Given the description of an element on the screen output the (x, y) to click on. 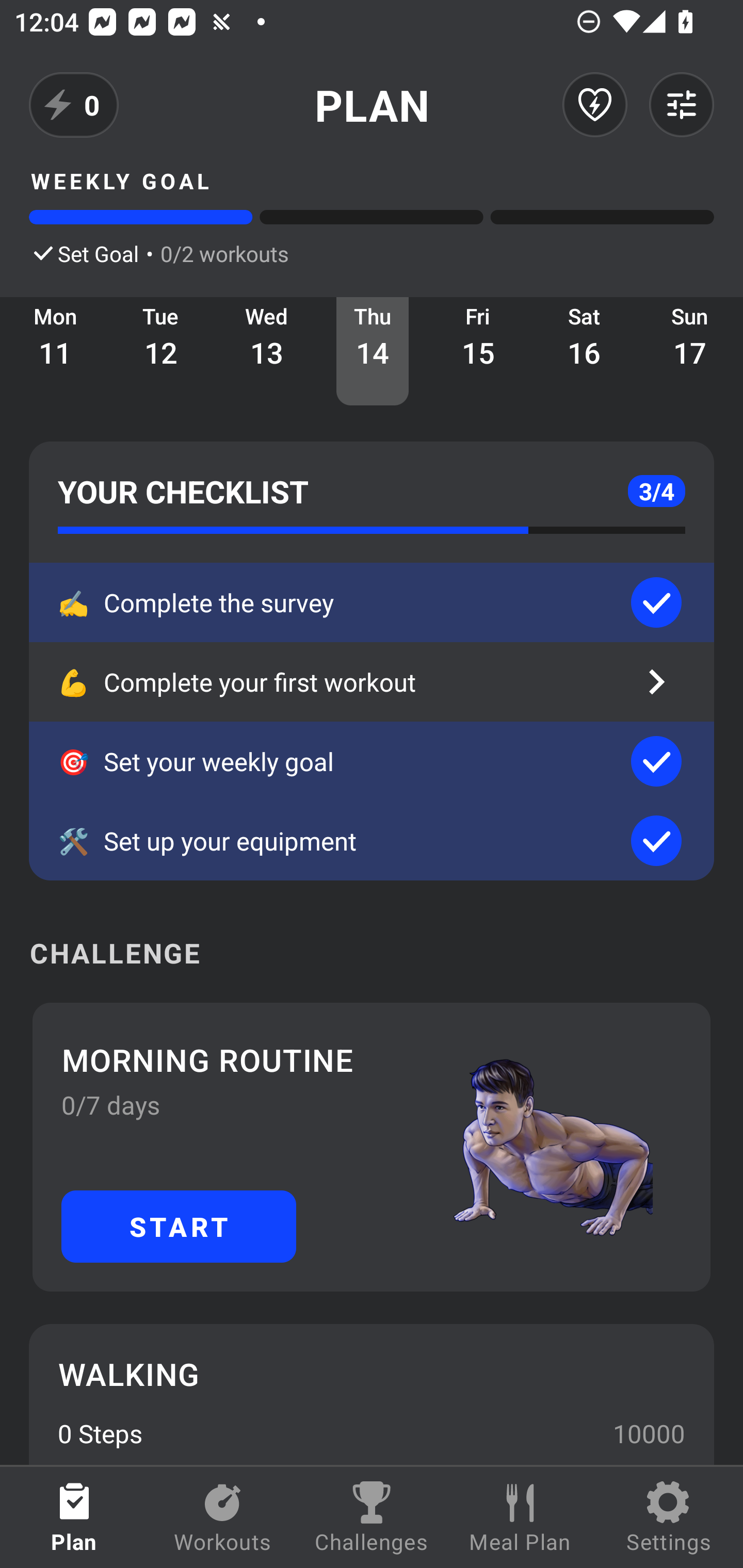
0 (73, 104)
Mon 11 (55, 351)
Tue 12 (160, 351)
Wed 13 (266, 351)
Thu 14 (372, 351)
Fri 15 (478, 351)
Sat 16 (584, 351)
Sun 17 (690, 351)
💪 Complete your first workout (371, 681)
MORNING ROUTINE 0/7 days START (371, 1146)
START (178, 1226)
WALKING 0 Steps 10000 (371, 1393)
 Workouts  (222, 1517)
 Challenges  (371, 1517)
 Meal Plan  (519, 1517)
 Settings  (668, 1517)
